Given the description of an element on the screen output the (x, y) to click on. 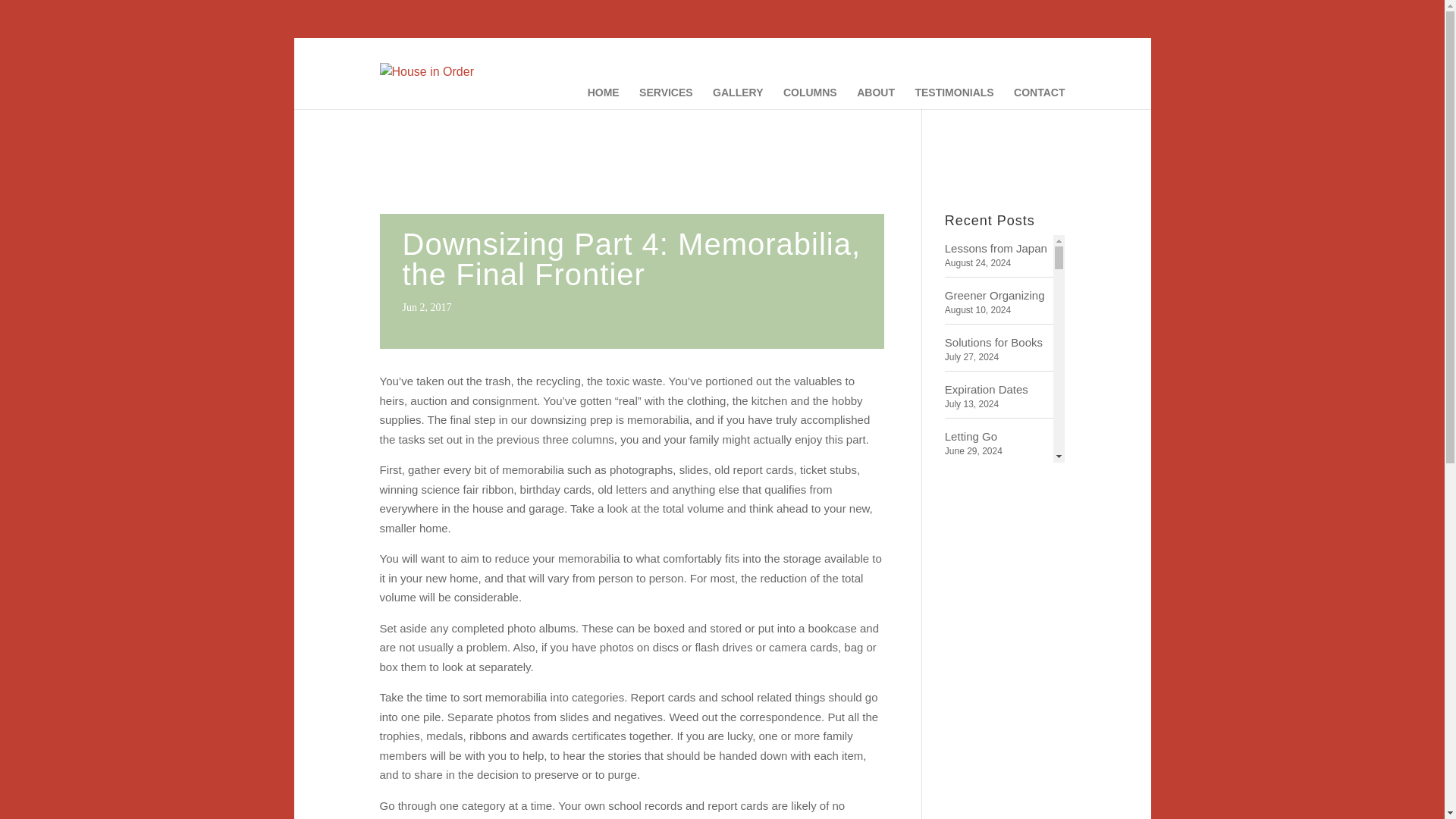
Seasonal Closet Clean-Out (999, 550)
Solutions for Books (999, 340)
COLUMNS (810, 97)
Organize for Fire Preparedness (999, 488)
Expiration Dates (999, 387)
ABOUT (876, 97)
Letting Go (999, 434)
SERVICES (666, 97)
CONTACT (1038, 97)
Good Manners (999, 788)
